Given the description of an element on the screen output the (x, y) to click on. 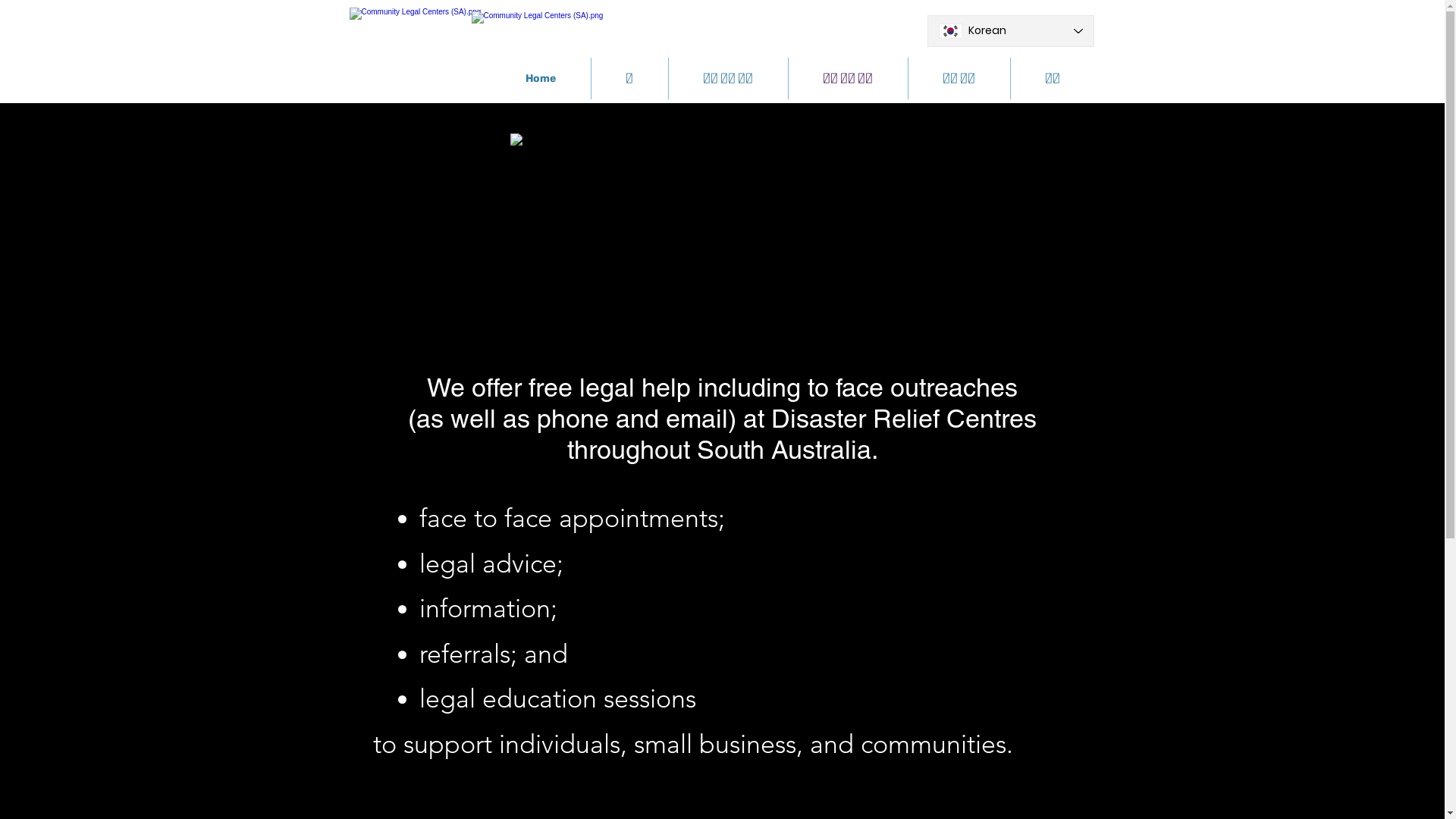
Home Element type: text (540, 78)
